Given the description of an element on the screen output the (x, y) to click on. 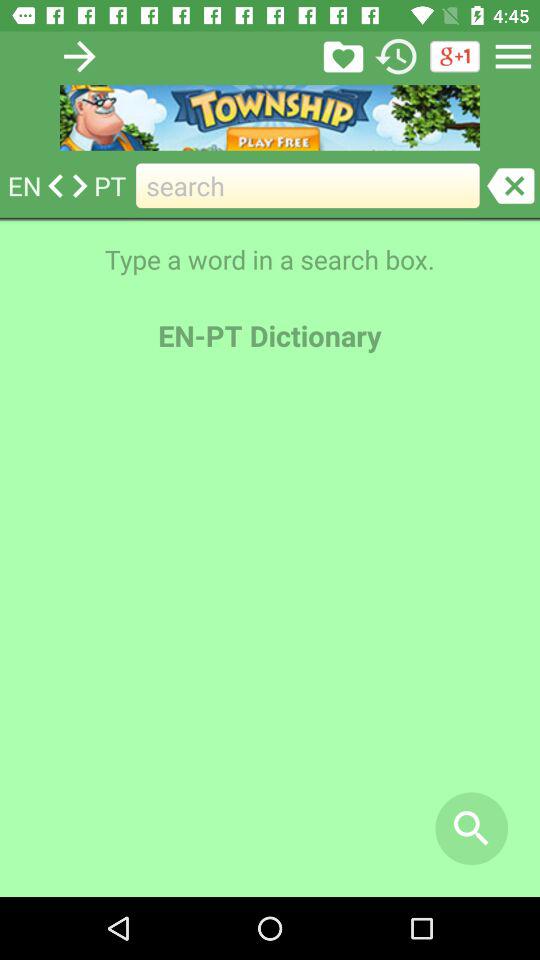
move page forward (79, 56)
